Given the description of an element on the screen output the (x, y) to click on. 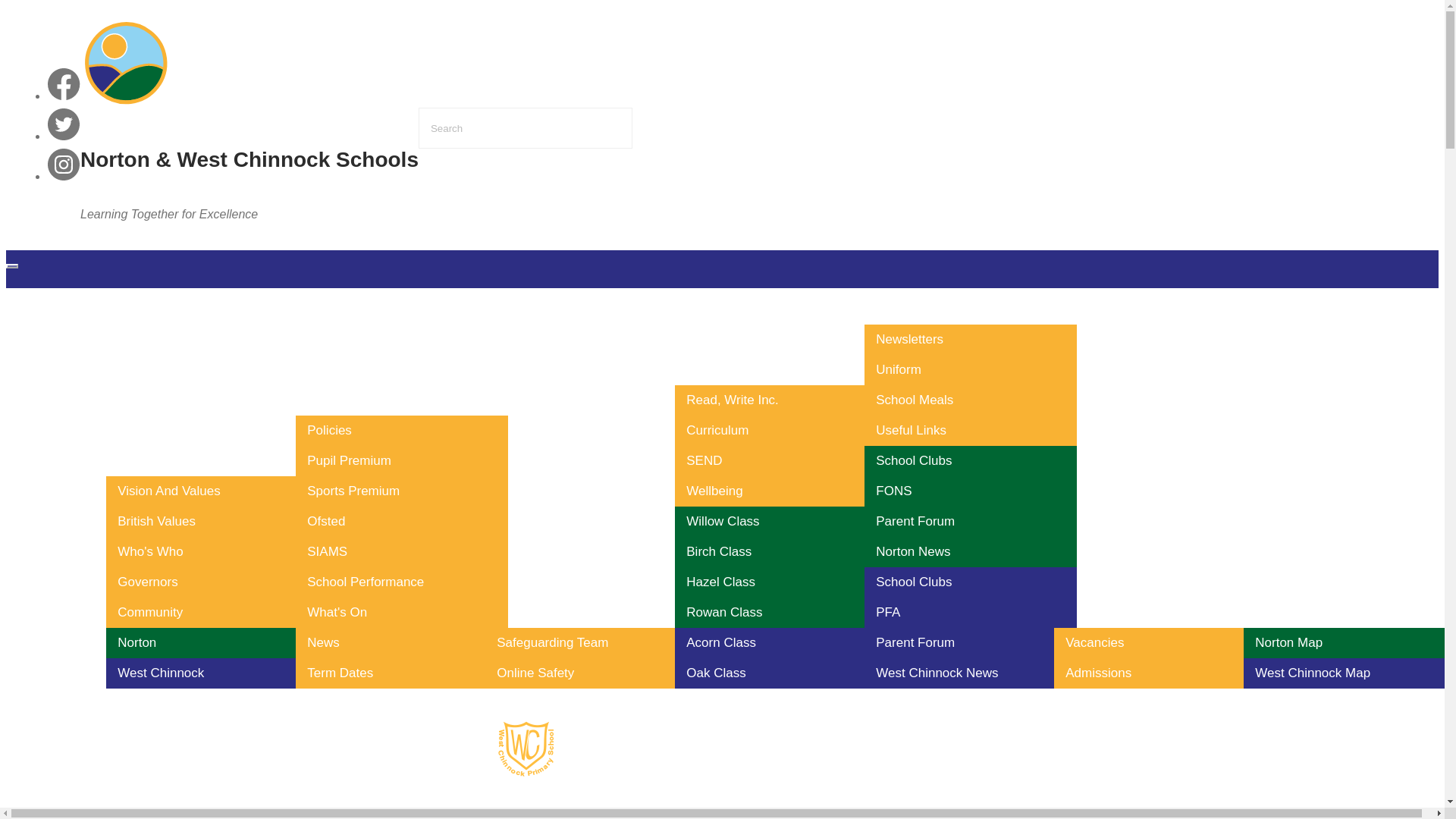
West Chinnock (212, 673)
Learning (769, 365)
Who's Who (212, 552)
Wellbeing (780, 490)
Read, Write Inc. (780, 399)
SIAMS (401, 552)
Parents (959, 305)
SEND (780, 460)
Community (212, 612)
Willow Class (780, 521)
Term Dates (401, 673)
Governors (212, 582)
Hazel Class (780, 582)
News (401, 643)
Norton (212, 643)
